Given the description of an element on the screen output the (x, y) to click on. 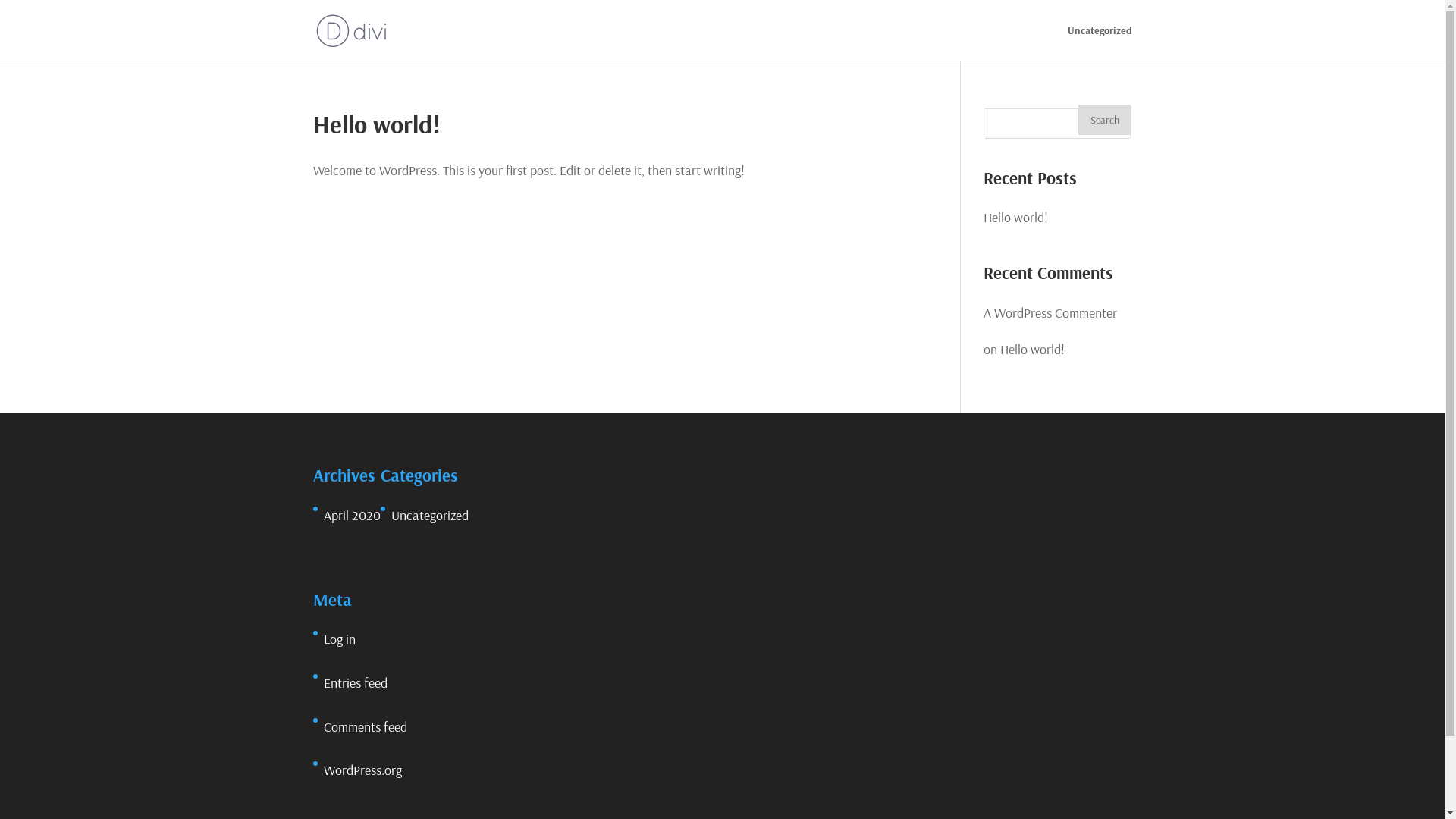
Entries feed Element type: text (354, 682)
Log in Element type: text (338, 638)
April 2020 Element type: text (351, 515)
WordPress.org Element type: text (362, 769)
A WordPress Commenter Element type: text (1050, 312)
Hello world! Element type: text (1032, 348)
Comments feed Element type: text (364, 726)
Uncategorized Element type: text (429, 515)
Search Element type: text (1104, 119)
Uncategorized Element type: text (1099, 42)
Hello world! Element type: text (1015, 216)
Hello world! Element type: text (375, 123)
